Given the description of an element on the screen output the (x, y) to click on. 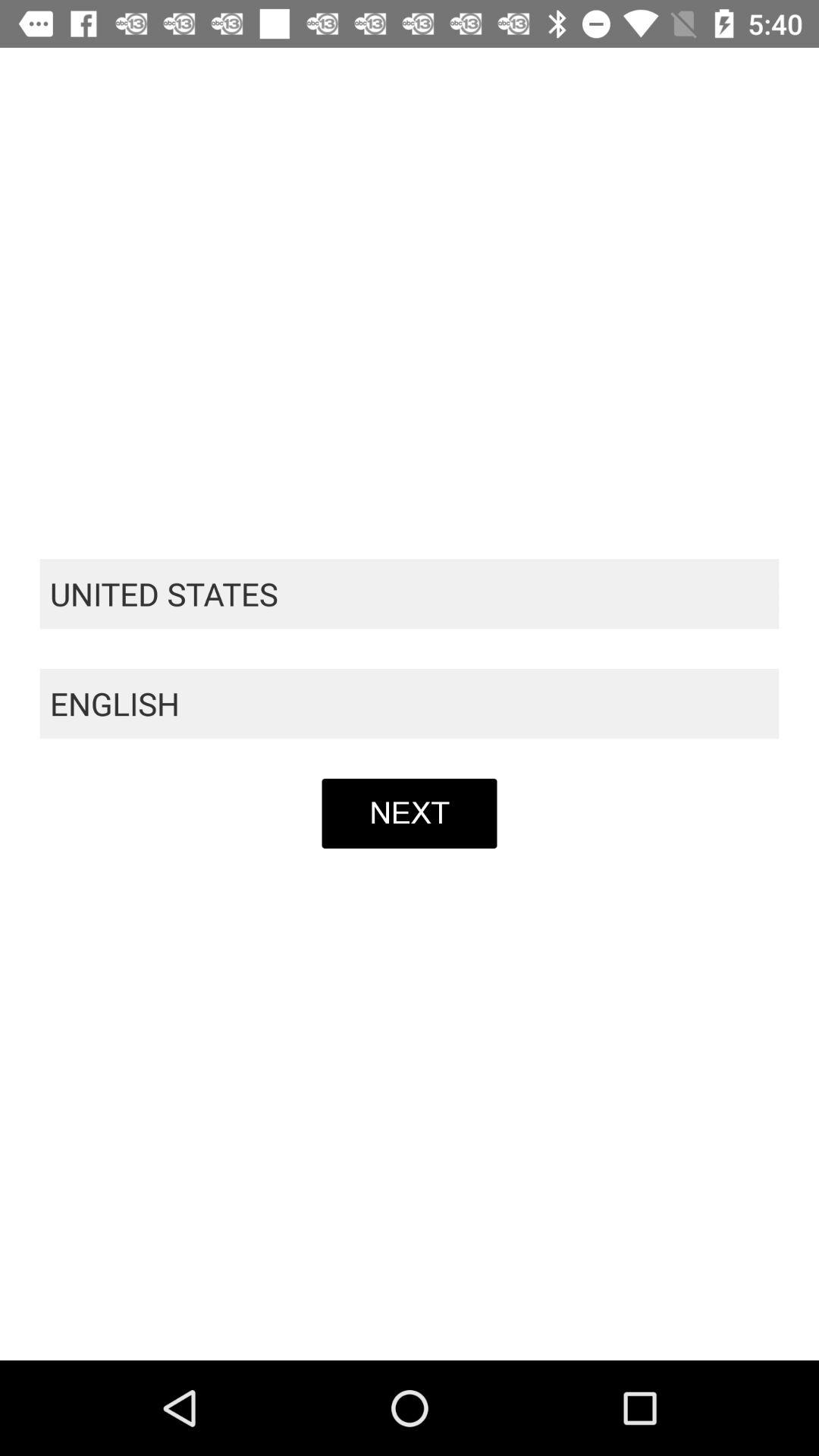
jump to the united states item (409, 594)
